Given the description of an element on the screen output the (x, y) to click on. 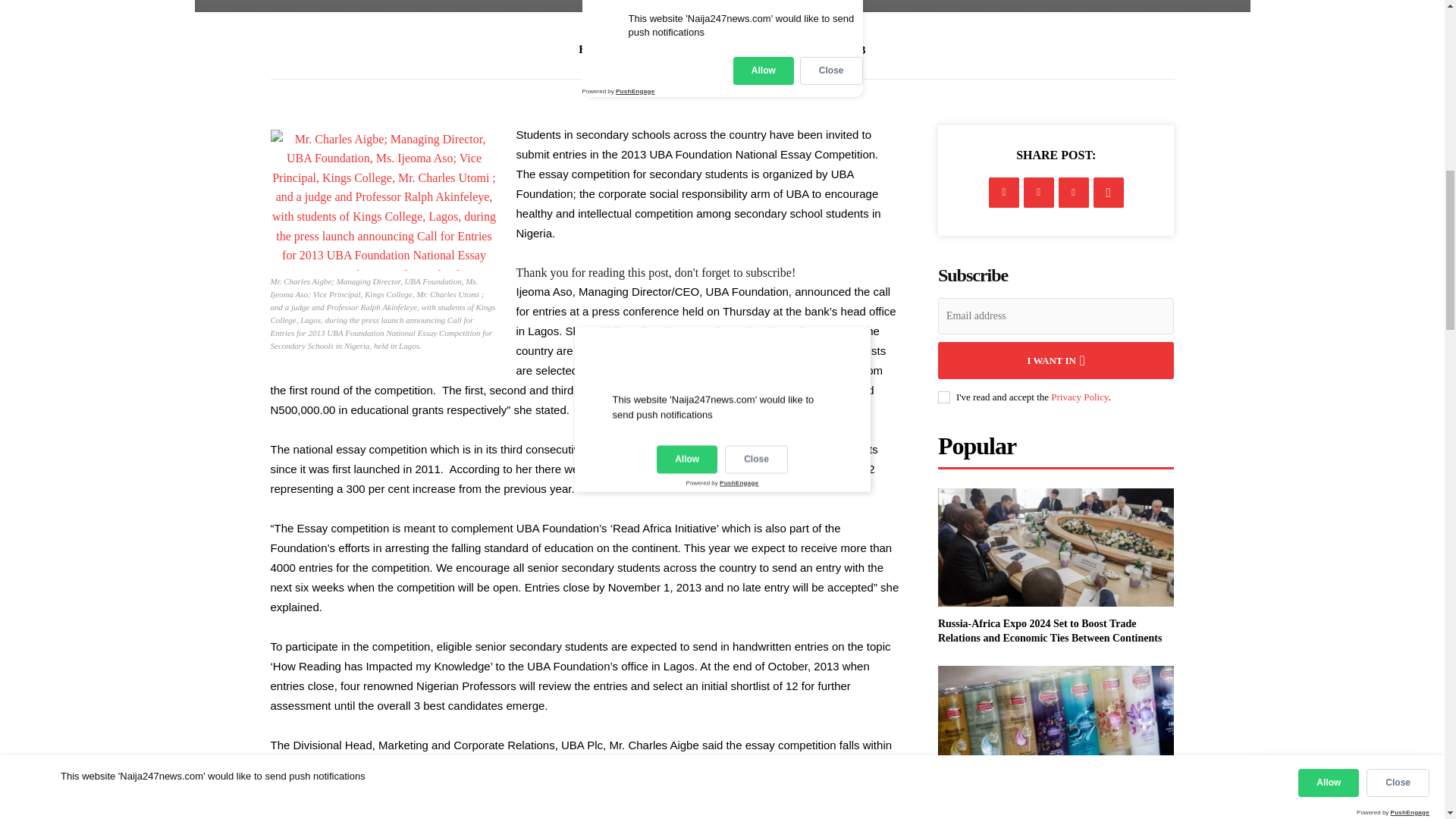
Pinterest (1073, 192)
Twitter (1038, 192)
Babatunde Akinsola (652, 49)
Facebook (1003, 192)
WhatsApp (1108, 192)
